Given the description of an element on the screen output the (x, y) to click on. 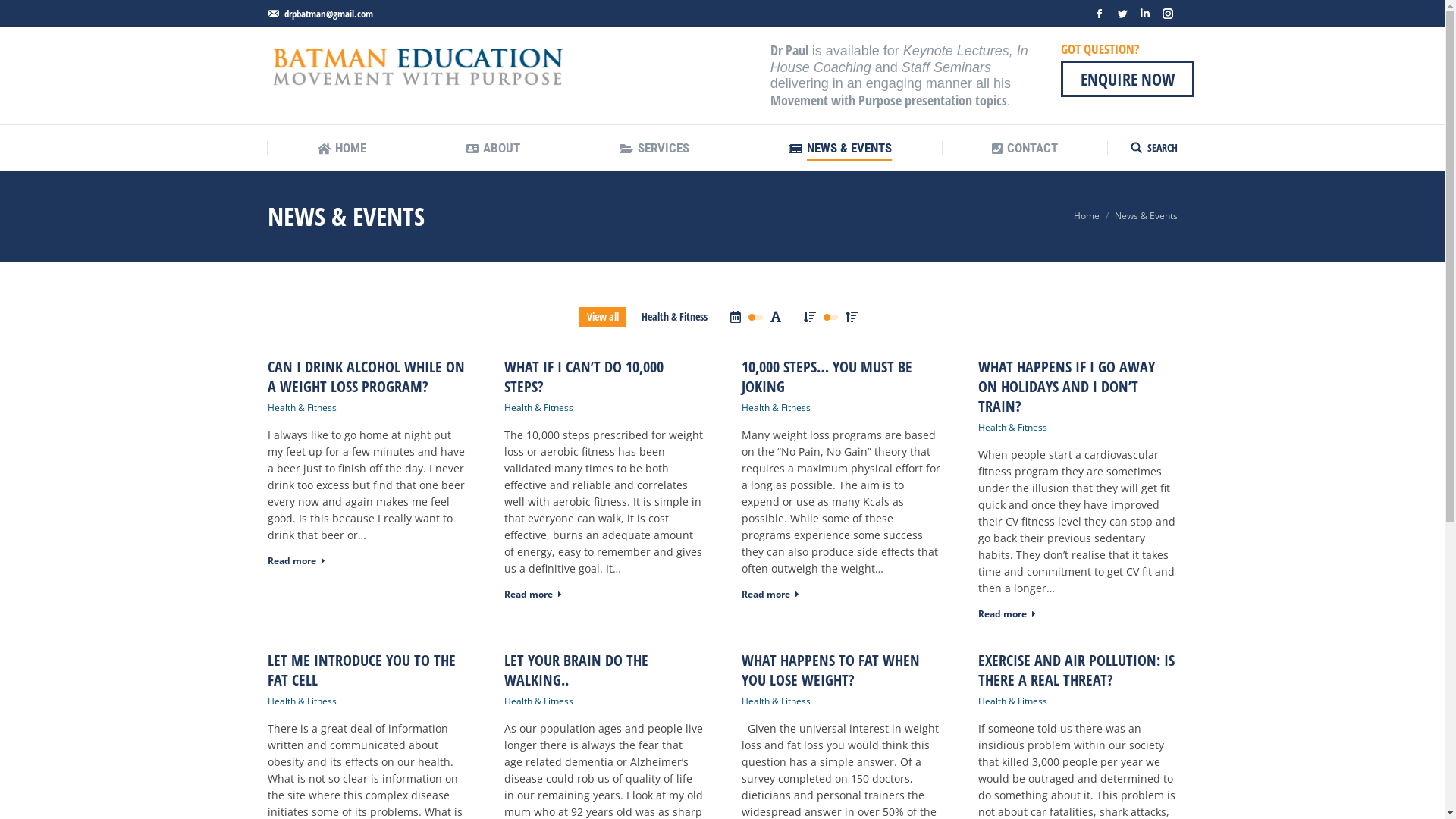
Linkedin Element type: text (1144, 13)
CAN I DRINK ALCOHOL WHILE ON A WEIGHT LOSS PROGRAM? Element type: text (366, 376)
EXERCISE AND AIR POLLUTION: IS THERE A REAL THREAT? Element type: text (1077, 670)
Read more Element type: text (1006, 617)
SEARCH Element type: text (1152, 147)
Health & Fitness Element type: text (1012, 701)
ABOUT Element type: text (493, 148)
Health & Fitness Element type: text (538, 407)
WHAT HAPPENS TO FAT WHEN YOU LOSE WEIGHT? Element type: text (841, 670)
SERVICES Element type: text (654, 148)
Health & Fitness Element type: text (775, 407)
Read more Element type: text (532, 597)
Home Element type: text (1086, 215)
View all Element type: text (602, 316)
Health & Fitness Element type: text (674, 316)
Read more Element type: text (770, 597)
Go! Element type: text (21, 14)
LET YOUR BRAIN DO THE WALKING.. Element type: text (603, 670)
Health & Fitness Element type: text (300, 701)
CONTACT Element type: text (1024, 148)
Facebook Element type: text (1098, 13)
NEWS & EVENTS Element type: text (839, 148)
Twitter Element type: text (1121, 13)
Read more Element type: text (295, 564)
Health & Fitness Element type: text (1012, 427)
Instagram Element type: text (1166, 13)
LET ME INTRODUCE YOU TO THE FAT CELL Element type: text (366, 670)
Health & Fitness Element type: text (300, 407)
HOME Element type: text (341, 148)
ENQUIRE NOW Element type: text (1127, 78)
Health & Fitness Element type: text (775, 701)
Health & Fitness Element type: text (538, 701)
